Given the description of an element on the screen output the (x, y) to click on. 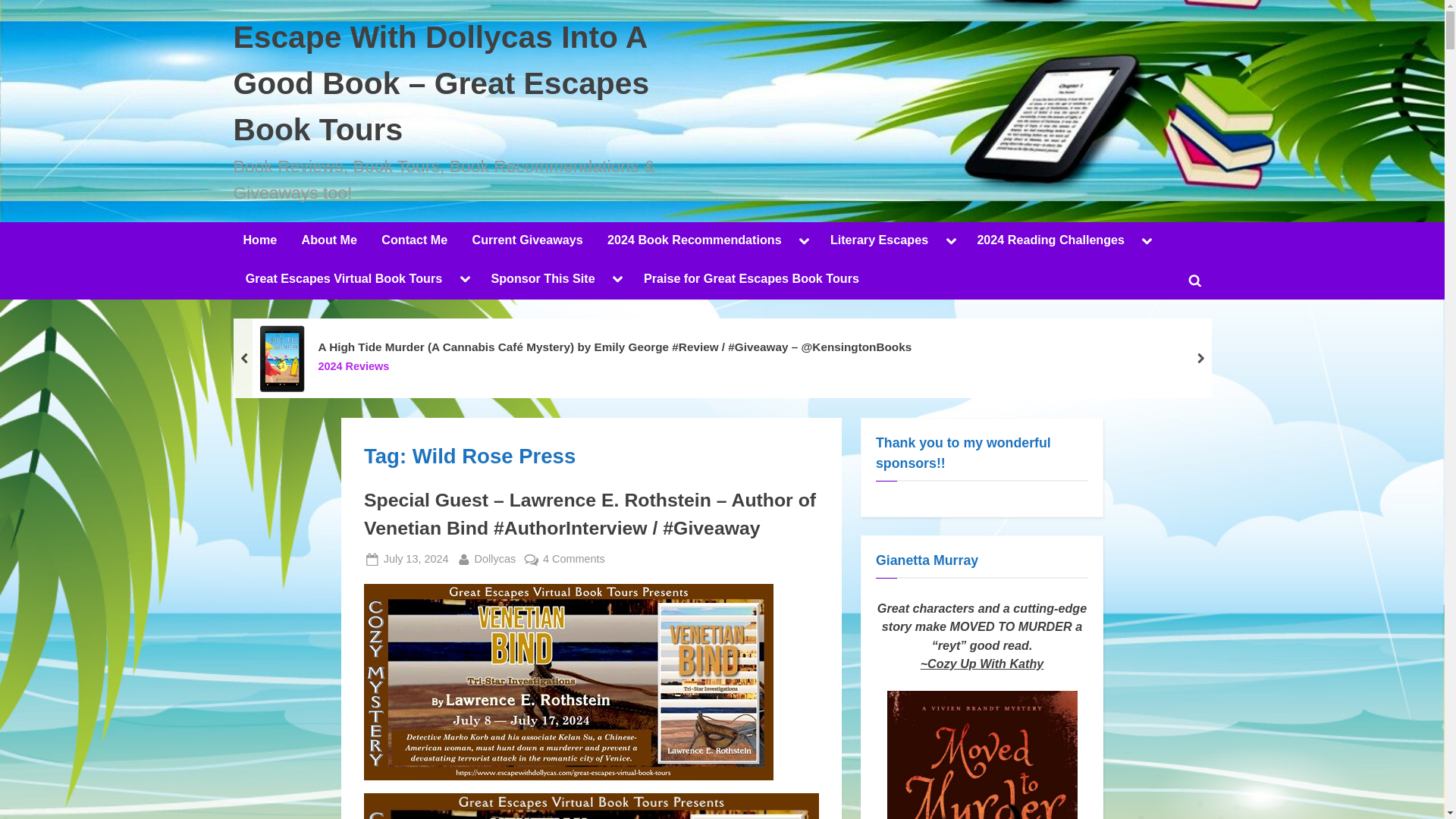
About Me (329, 241)
Home (259, 241)
Literary Escapes (879, 241)
Current Giveaways (527, 241)
2024 Book Recommendations (693, 241)
Toggle sub-menu (950, 241)
Contact Me (414, 241)
Toggle sub-menu (804, 241)
